Given the description of an element on the screen output the (x, y) to click on. 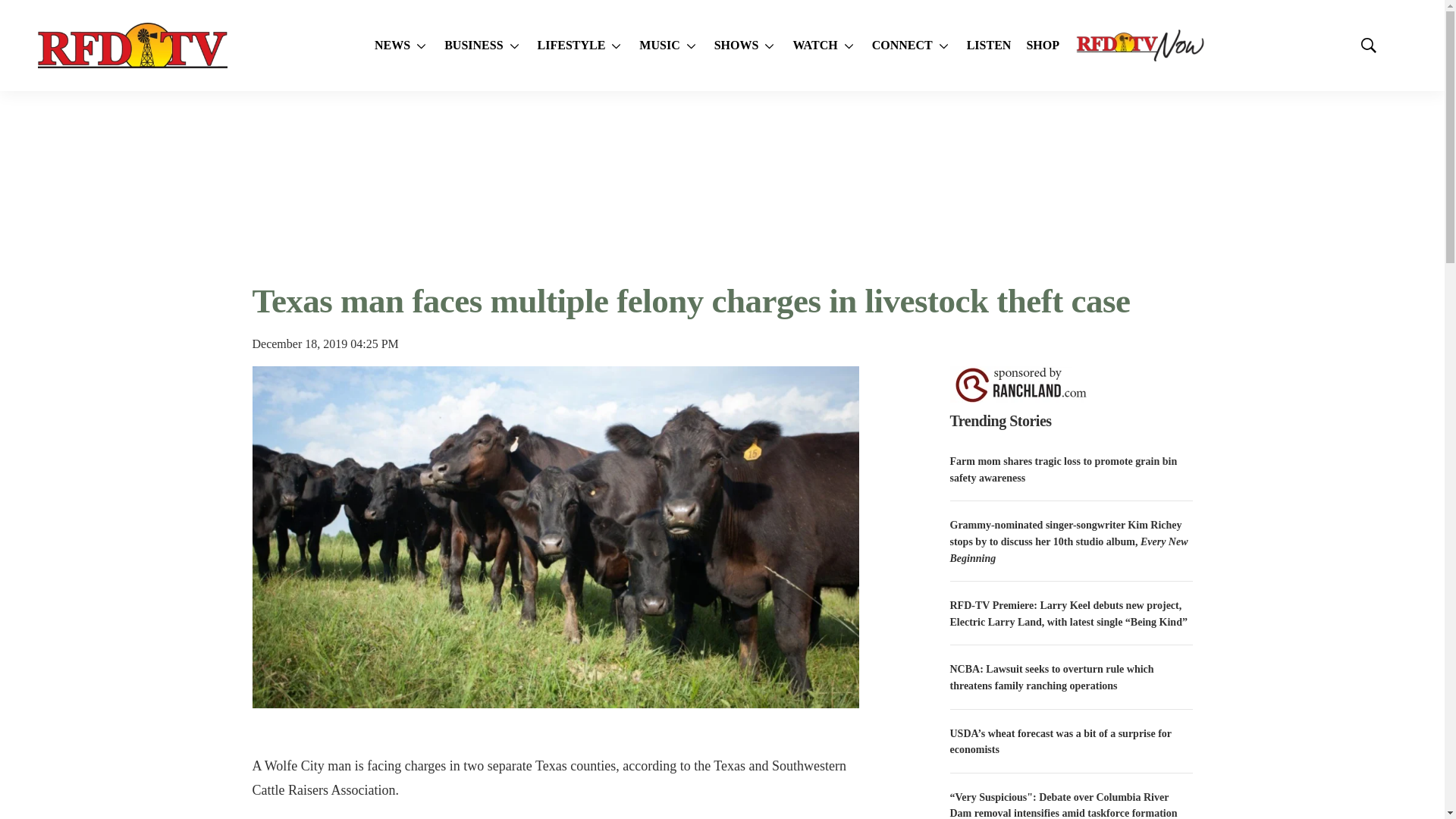
3rd party ad content (721, 185)
